Given the description of an element on the screen output the (x, y) to click on. 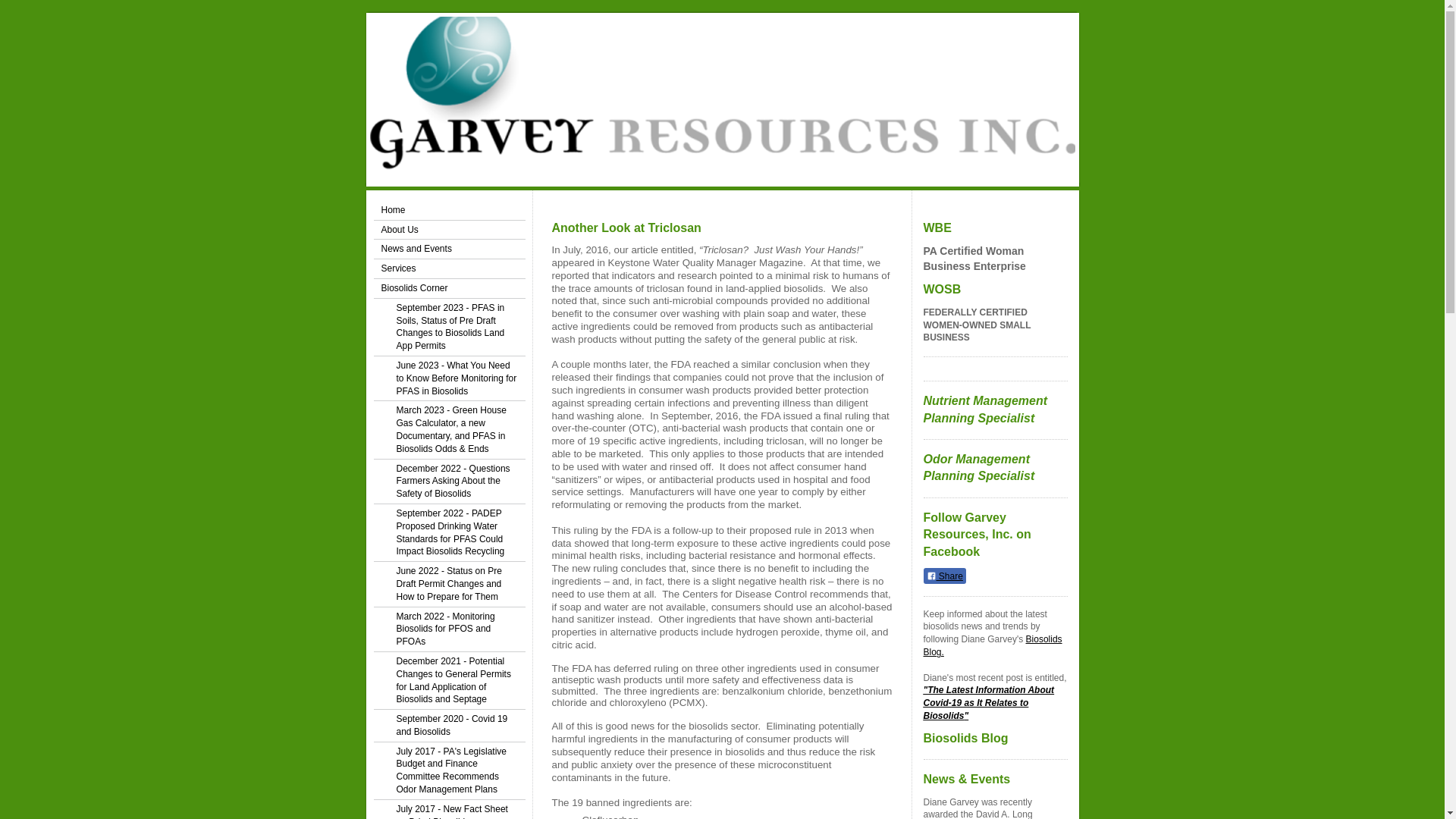
Biosolids Corner (448, 288)
News and Events (448, 249)
About Us (448, 230)
September 2020 - Covid 19 and Biosolids (448, 726)
March 2022 - Monitoring Biosolids for PFOS and PFOAs (448, 629)
Services (448, 269)
Home (448, 210)
